Given the description of an element on the screen output the (x, y) to click on. 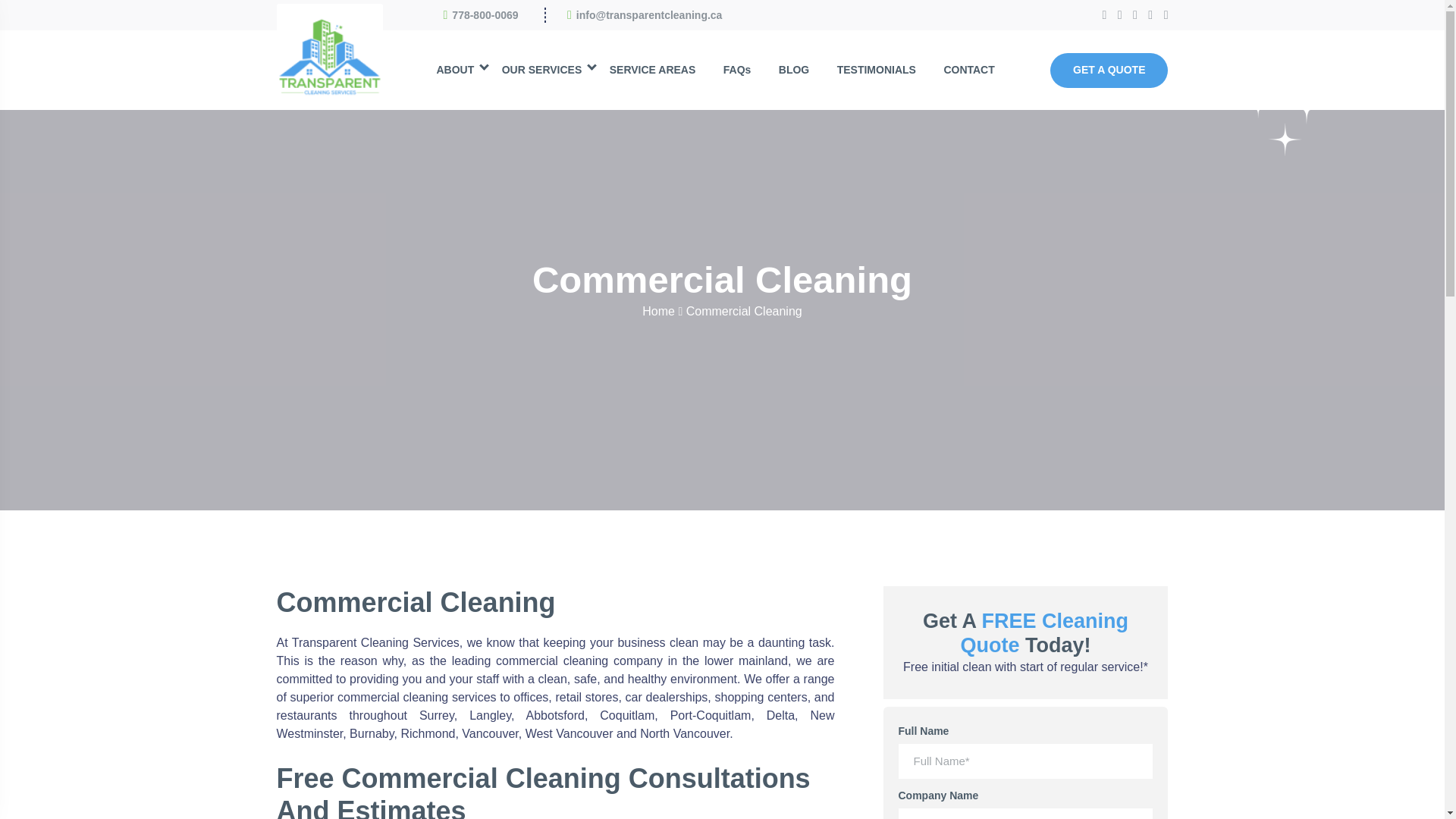
778-800-0069 (484, 15)
OUR SERVICES (541, 69)
GET A QUOTE (1108, 70)
SERVICE AREAS (651, 69)
TESTIMONIALS (876, 69)
CONTACT (968, 69)
